Given the description of an element on the screen output the (x, y) to click on. 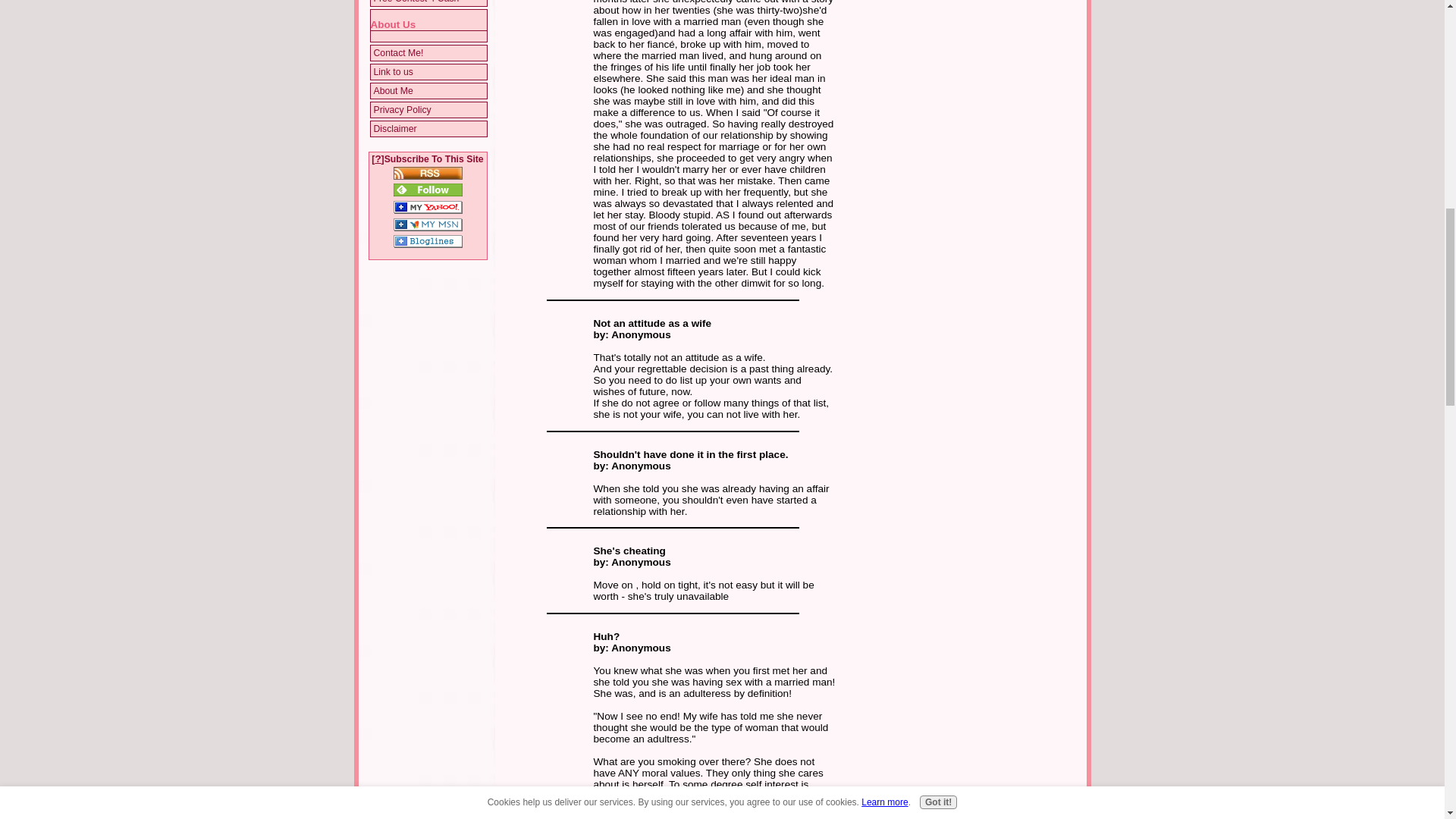
Free Contest 4 Cash (427, 2)
